Given the description of an element on the screen output the (x, y) to click on. 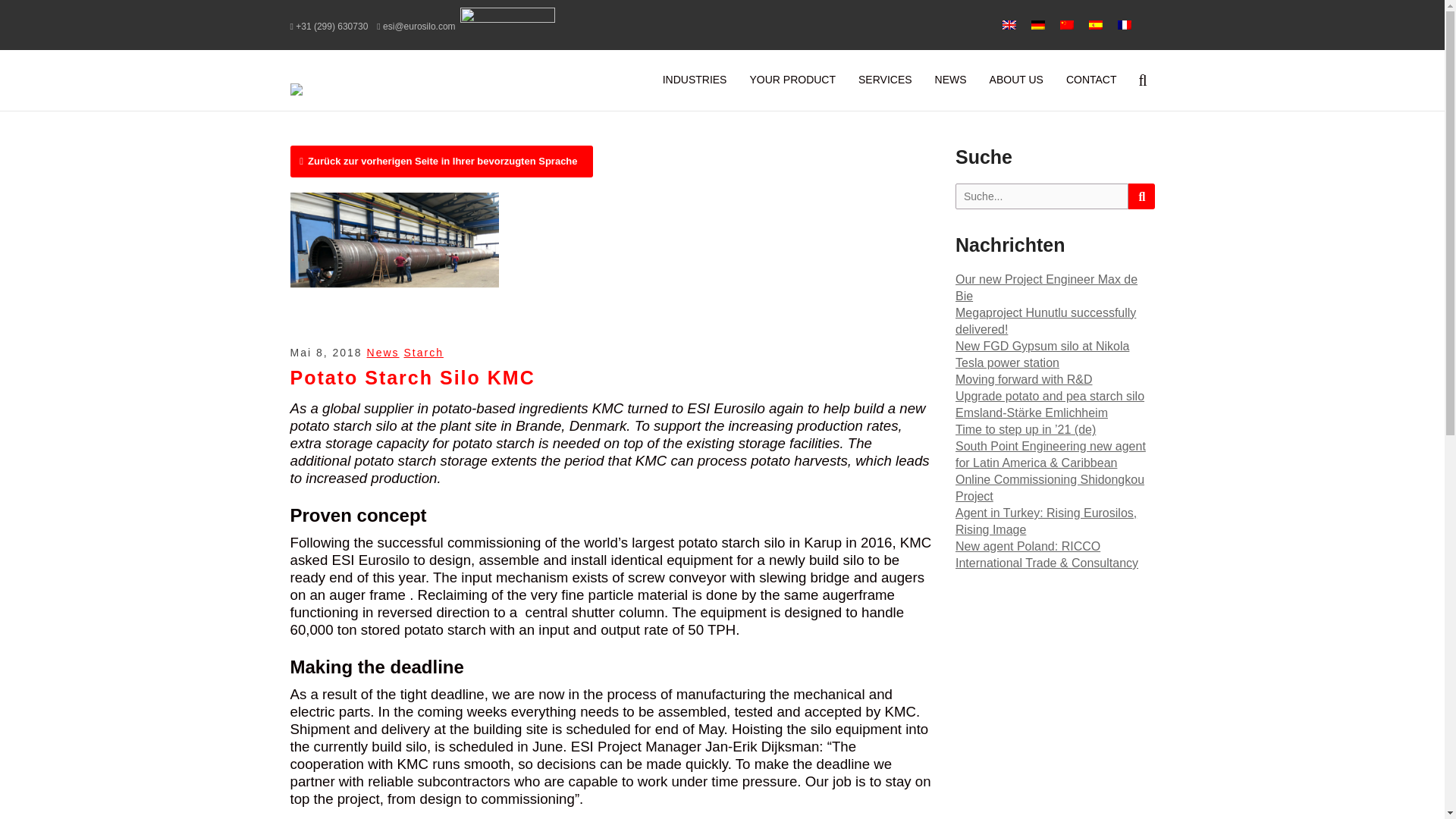
YOUR PRODUCT (792, 79)
YOUR PRODUCT (792, 79)
SERVICES (885, 79)
CONTACT (1091, 79)
ABOUT US (1016, 79)
INDUSTRIES (694, 79)
INDUSTRIES (694, 79)
